Given the description of an element on the screen output the (x, y) to click on. 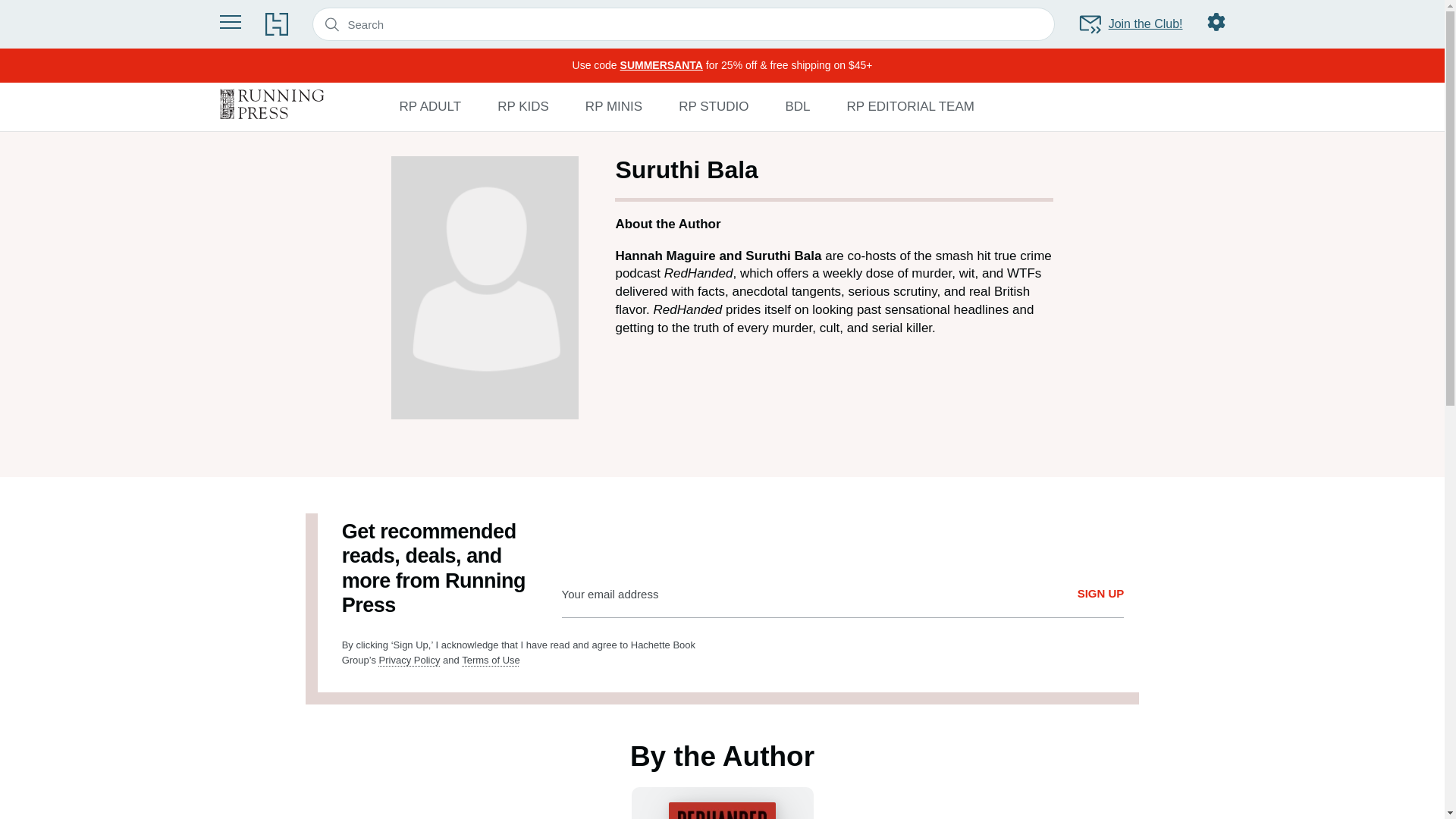
RP MINIS (613, 106)
RP KIDS (522, 106)
Go to Hachette Book Group home (276, 24)
RP ADULT (429, 106)
Privacy Policy (409, 659)
Join the Club! (1130, 24)
BDL (796, 106)
RedHanded (721, 803)
SIGN UP (1100, 593)
RP EDITORIAL TEAM (909, 106)
Terms of Use (490, 659)
RP STUDIO (713, 106)
